Given the description of an element on the screen output the (x, y) to click on. 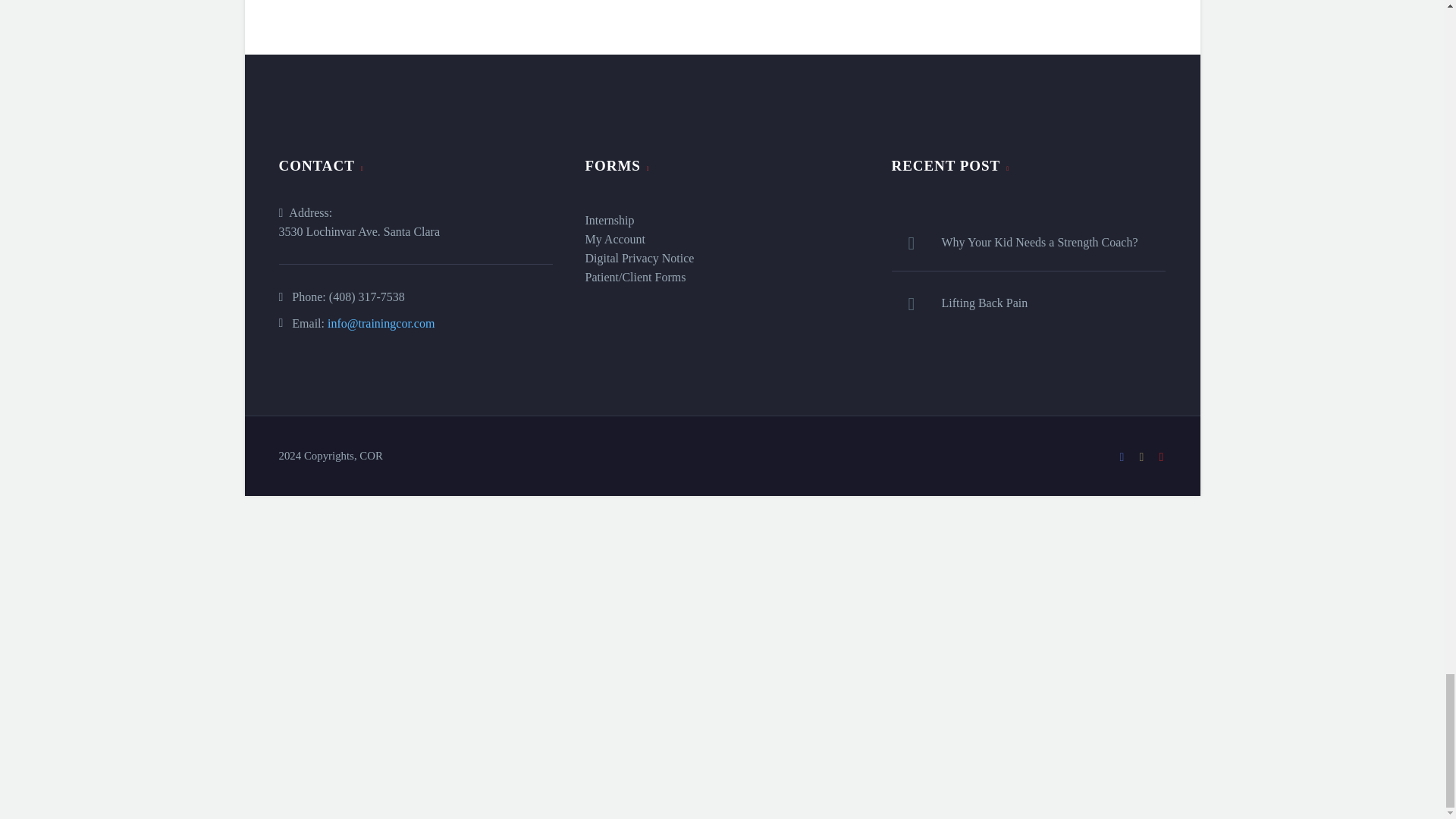
Instagram (1141, 457)
Facebook (1122, 457)
YouTube (1161, 457)
